Given the description of an element on the screen output the (x, y) to click on. 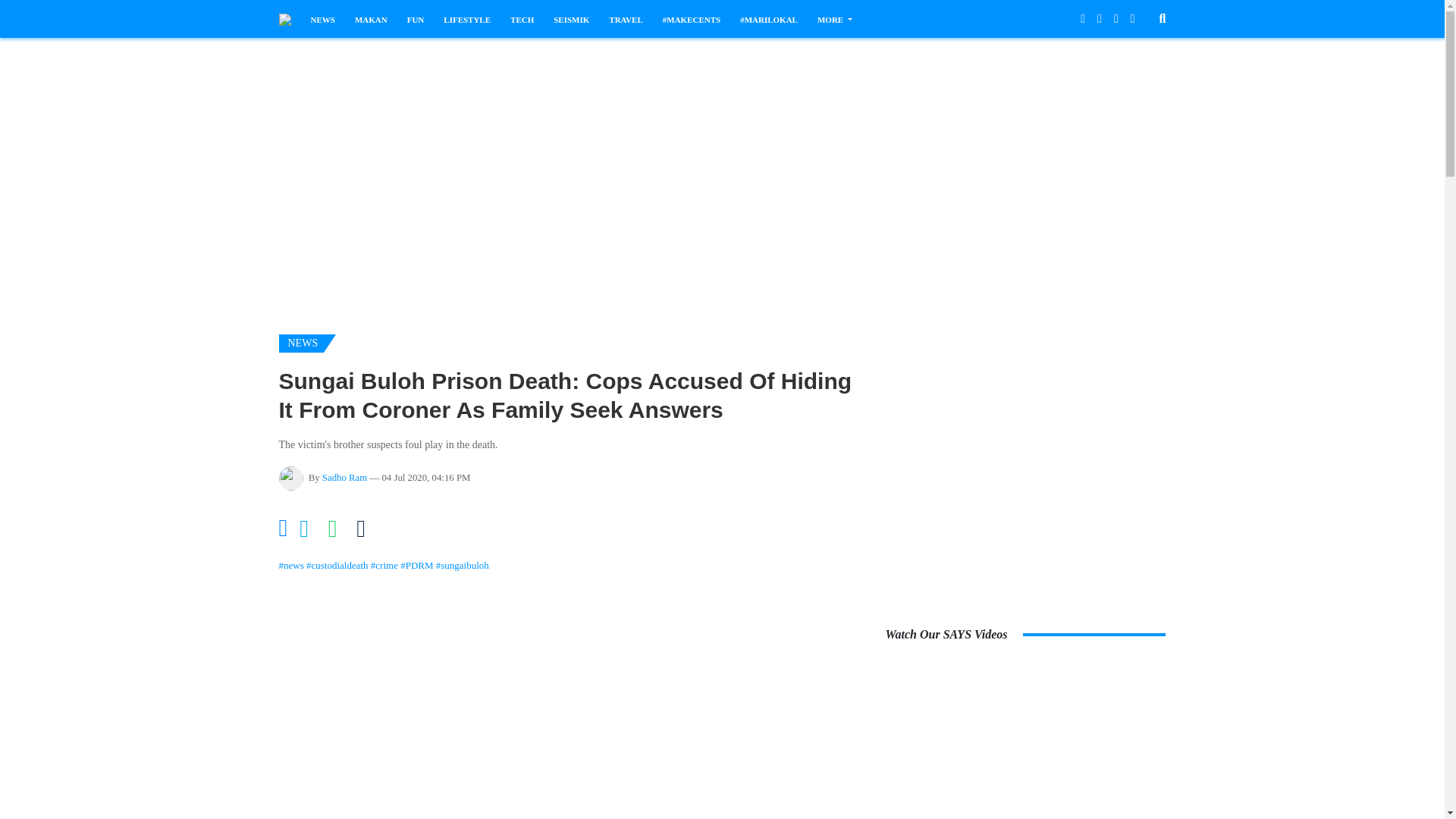
LIFESTYLE (467, 19)
Like us on Facebook (1082, 18)
Follow us on Twitter (1099, 18)
Sadho Ram (343, 477)
SEISMIK (571, 19)
MORE (833, 19)
MAKAN (371, 19)
NEWS (322, 19)
TECH (522, 19)
FUN (416, 19)
TRAVEL (625, 19)
